Given the description of an element on the screen output the (x, y) to click on. 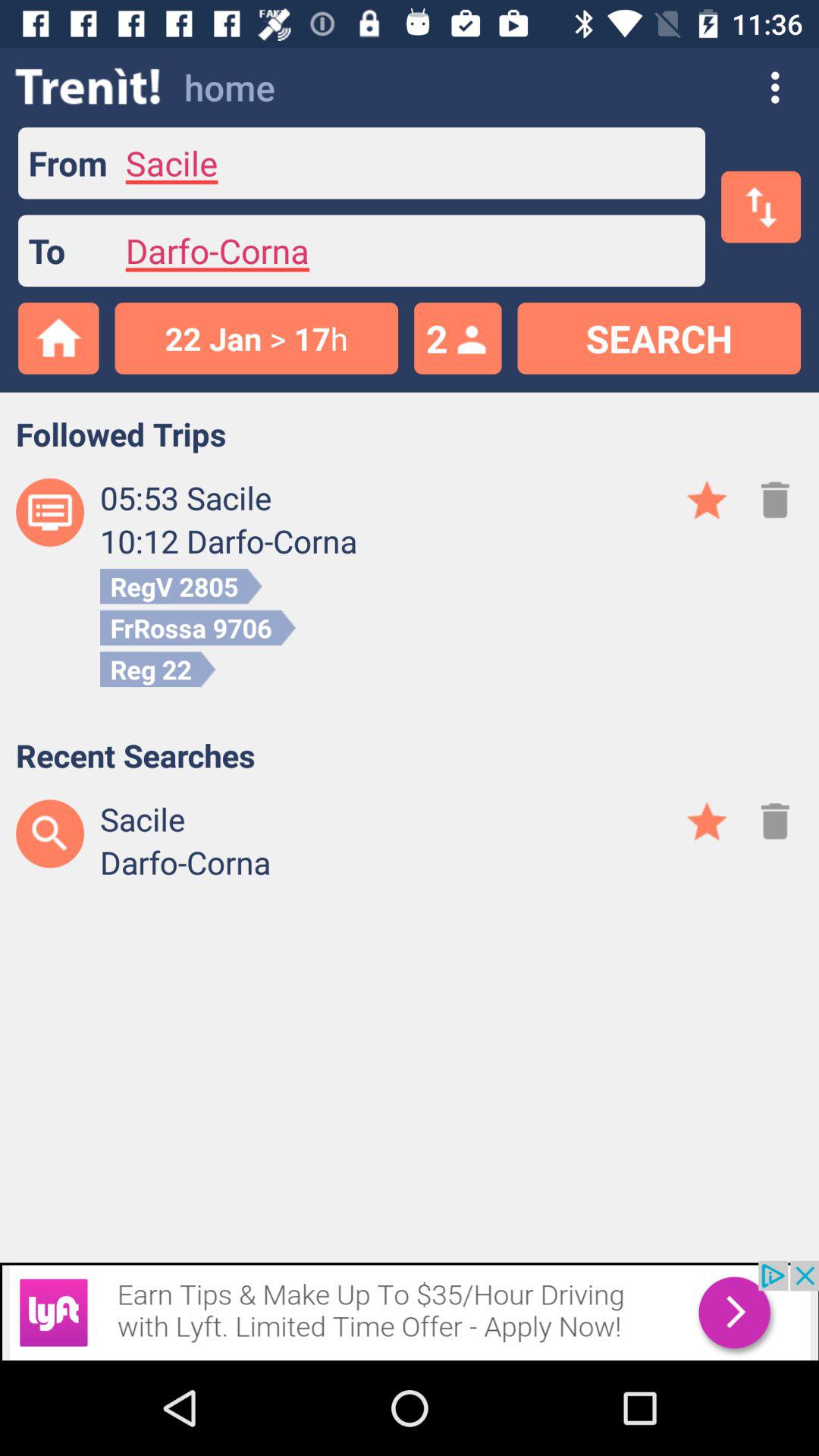
advertisement (409, 1310)
